Given the description of an element on the screen output the (x, y) to click on. 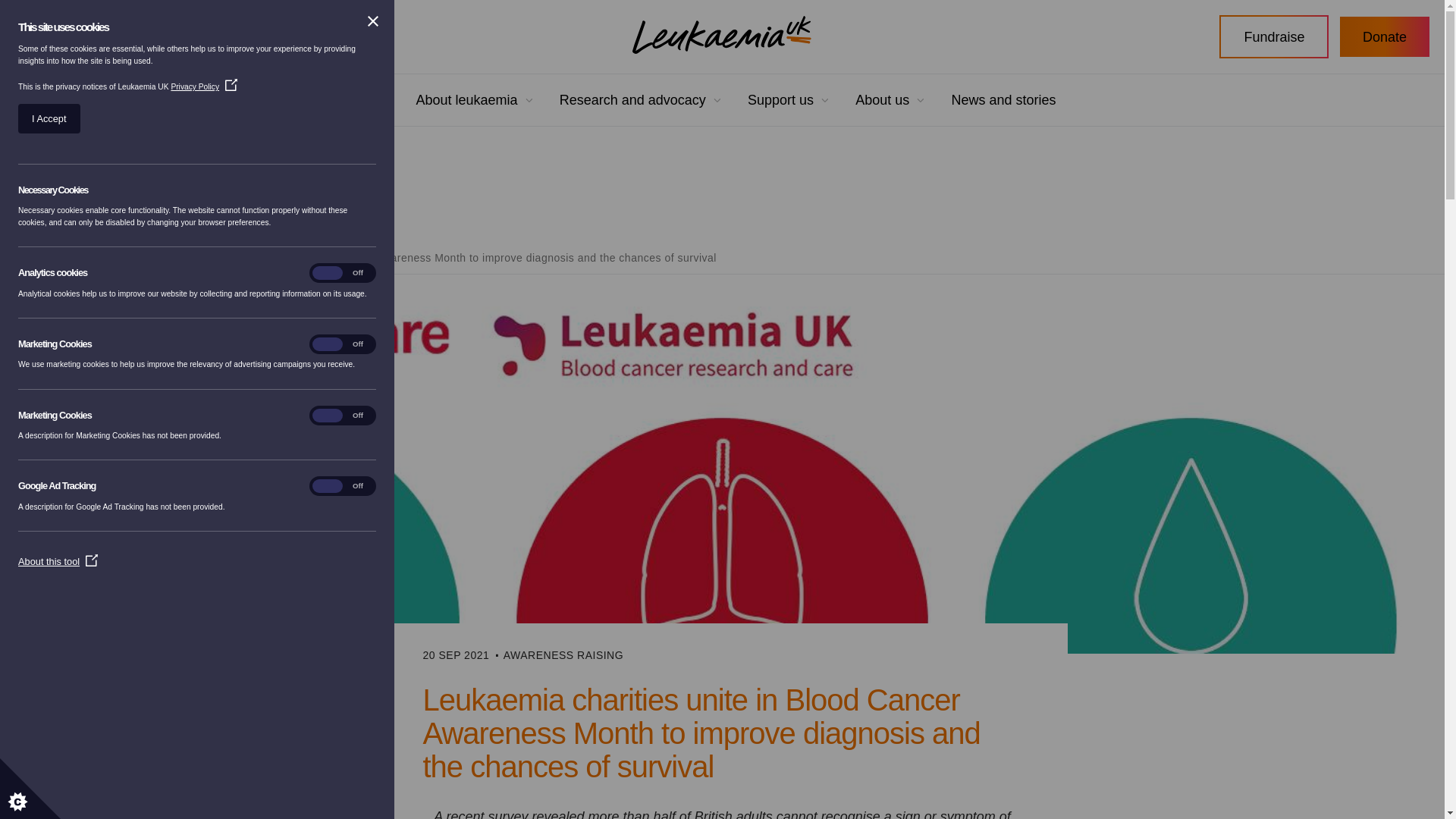
About leukaemia (465, 100)
Search (198, 36)
Fundraise (1273, 36)
Open submenu (717, 100)
Donate (1384, 36)
Research and advocacy (632, 100)
Open submenu (529, 100)
Leukaemia UK (720, 34)
